Given the description of an element on the screen output the (x, y) to click on. 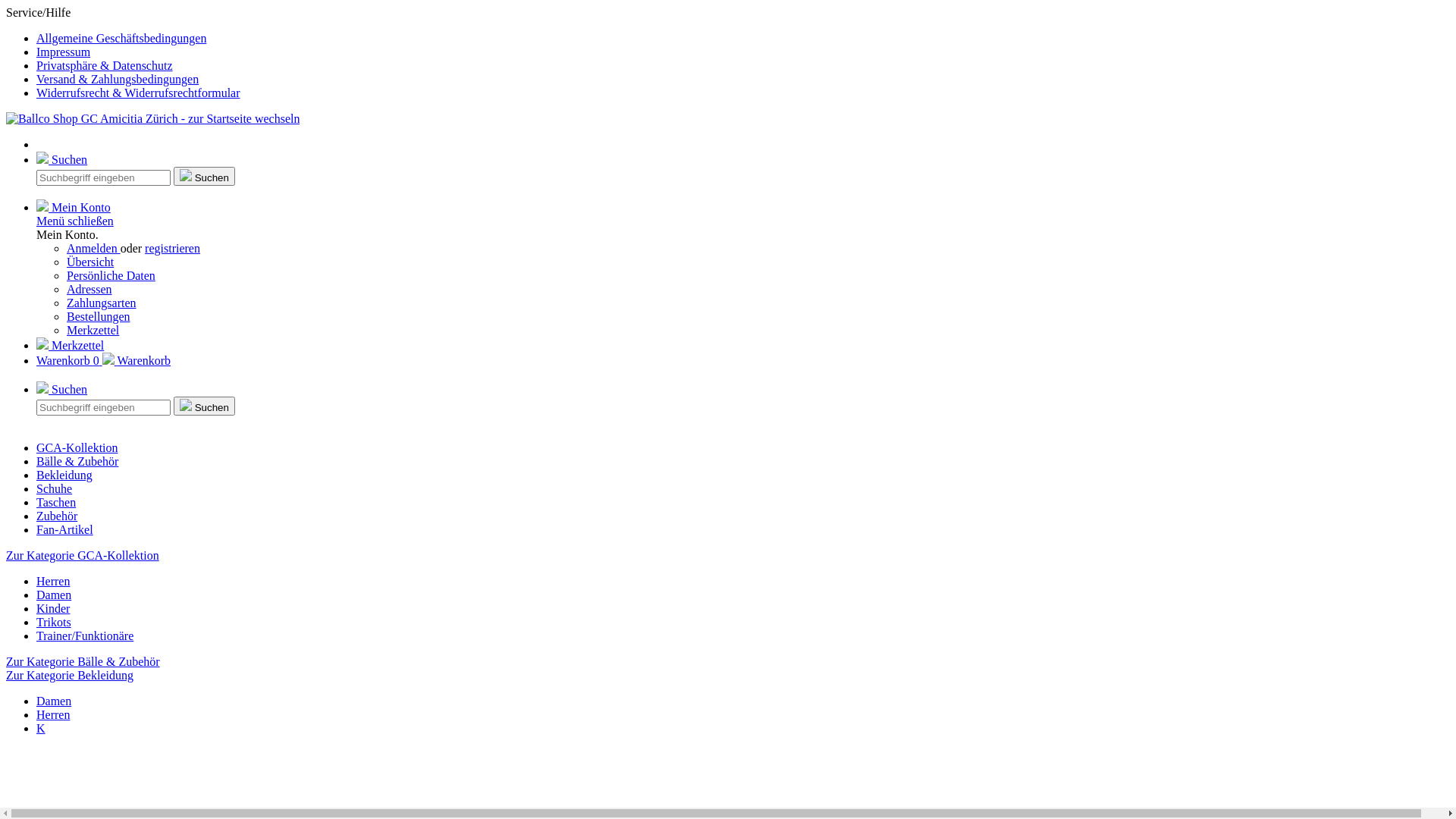
Herren Element type: text (52, 580)
GCA-Kollektion Element type: text (77, 447)
Zahlungsarten Element type: text (101, 302)
Impressum Element type: text (63, 51)
Widerrufsrecht & Widerrufsrechtformular Element type: text (138, 92)
Zur Kategorie GCA-Kollektion Element type: text (82, 555)
Fan-Artikel Element type: text (64, 529)
Versand & Zahlungsbedingungen Element type: text (117, 78)
Bestellungen Element type: text (98, 316)
Suchen Element type: text (61, 159)
Schuhe Element type: text (54, 488)
Anmelden Element type: text (93, 247)
Herren Element type: text (52, 714)
Taschen Element type: text (55, 501)
K Element type: text (40, 727)
Suchen Element type: text (61, 388)
Merkzettel Element type: text (92, 329)
Kinder Element type: text (52, 608)
Adressen Element type: text (89, 288)
Merkzettel Element type: text (69, 344)
Mein Konto Element type: text (73, 206)
registrieren Element type: text (172, 247)
Zur Kategorie Bekleidung Element type: text (69, 674)
Suchen Element type: text (204, 175)
Bekleidung Element type: text (64, 474)
Trikots Element type: text (53, 621)
Suchen Element type: text (204, 405)
Damen Element type: text (53, 700)
Damen Element type: text (53, 594)
Warenkorb 0 Warenkorb Element type: text (103, 360)
